Given the description of an element on the screen output the (x, y) to click on. 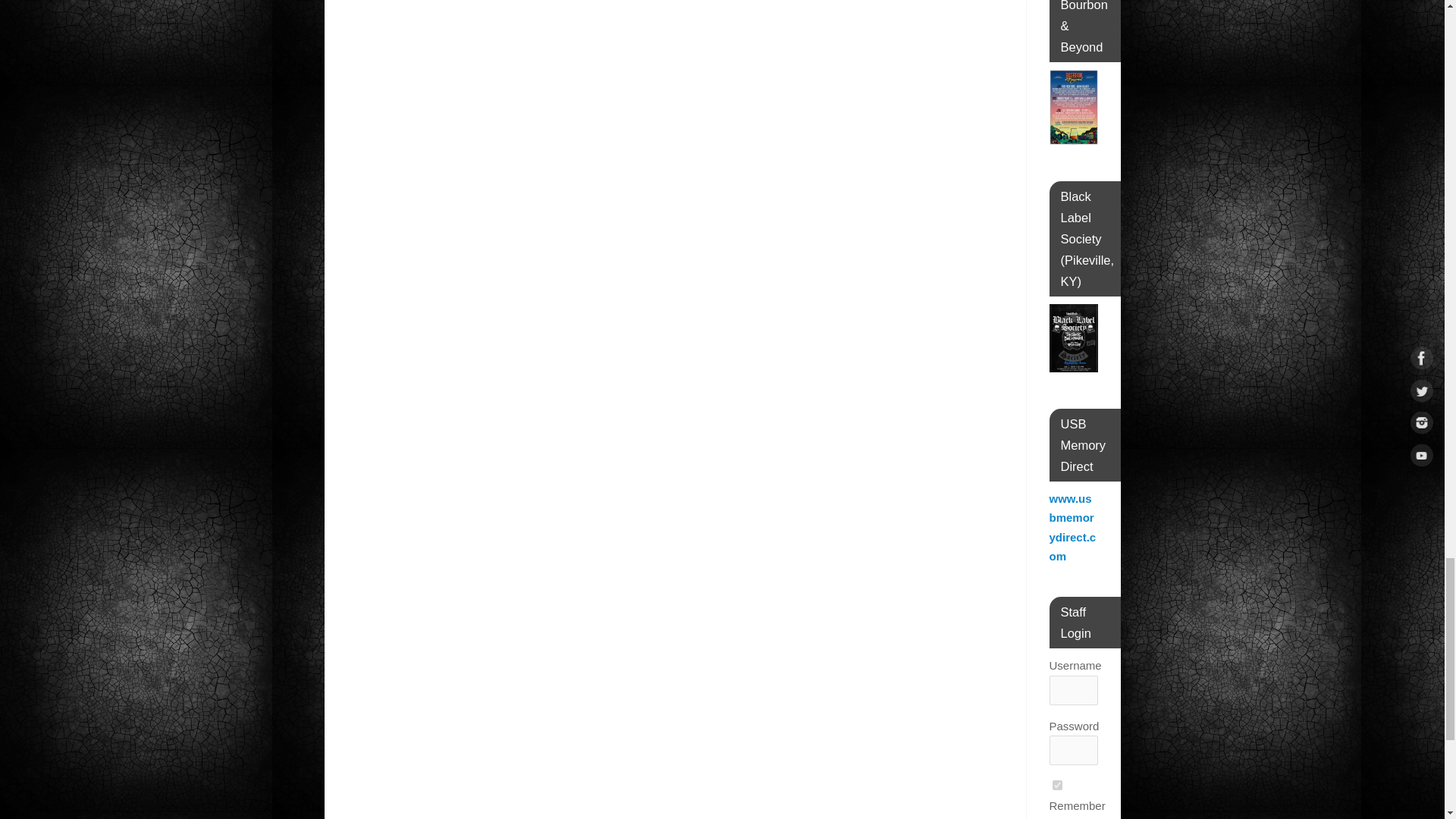
forever (1057, 785)
